Given the description of an element on the screen output the (x, y) to click on. 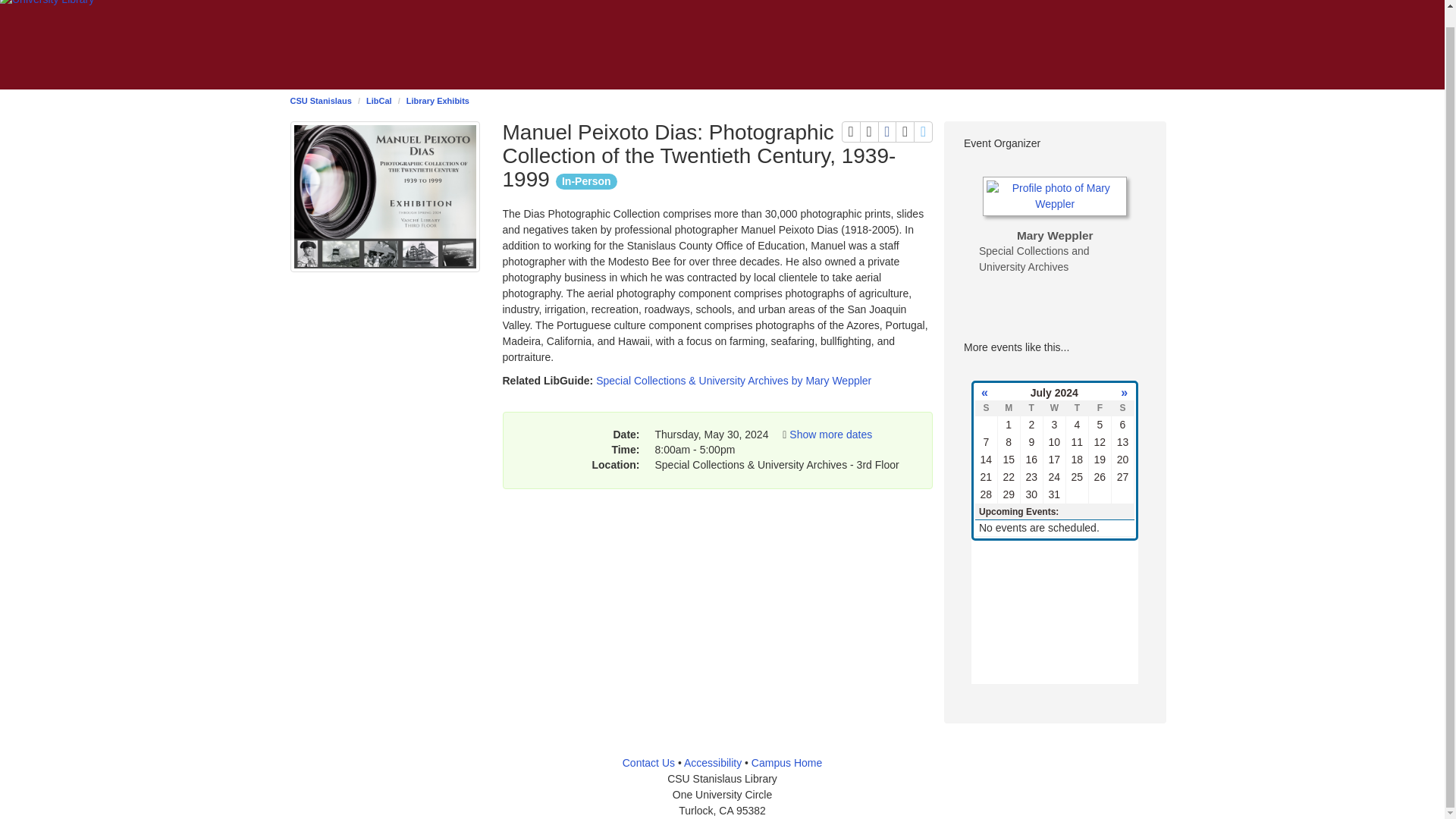
Contact Us (649, 762)
LibCal (923, 131)
Library Exhibits (378, 100)
CSU Stanislaus (437, 100)
University Library (319, 100)
Add to a Calendar using iCal (47, 3)
Campus Home (869, 131)
Accessibility (904, 131)
Print the page (786, 762)
Show more dates (712, 762)
